Given the description of an element on the screen output the (x, y) to click on. 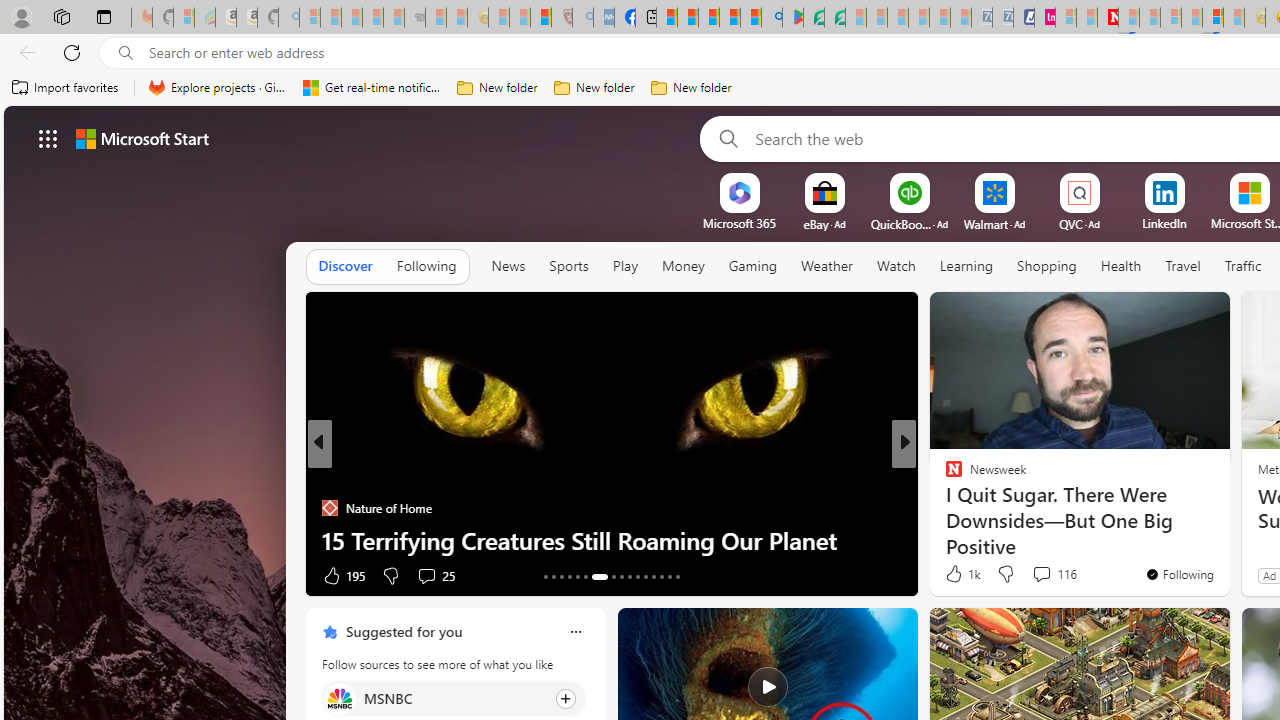
MSNBC - MSN (666, 17)
Dagens News (US) (944, 507)
Search icon (125, 53)
AutomationID: tab-18 (585, 576)
Health (1121, 267)
View comments 96 Comment (1044, 574)
Money (682, 267)
View comments 96 Comment (1035, 575)
Microsoft-Report a Concern to Bing - Sleeping (184, 17)
Learning (966, 267)
Cheap Hotels - Save70.com - Sleeping (1002, 17)
Traffic (1243, 265)
